Given the description of an element on the screen output the (x, y) to click on. 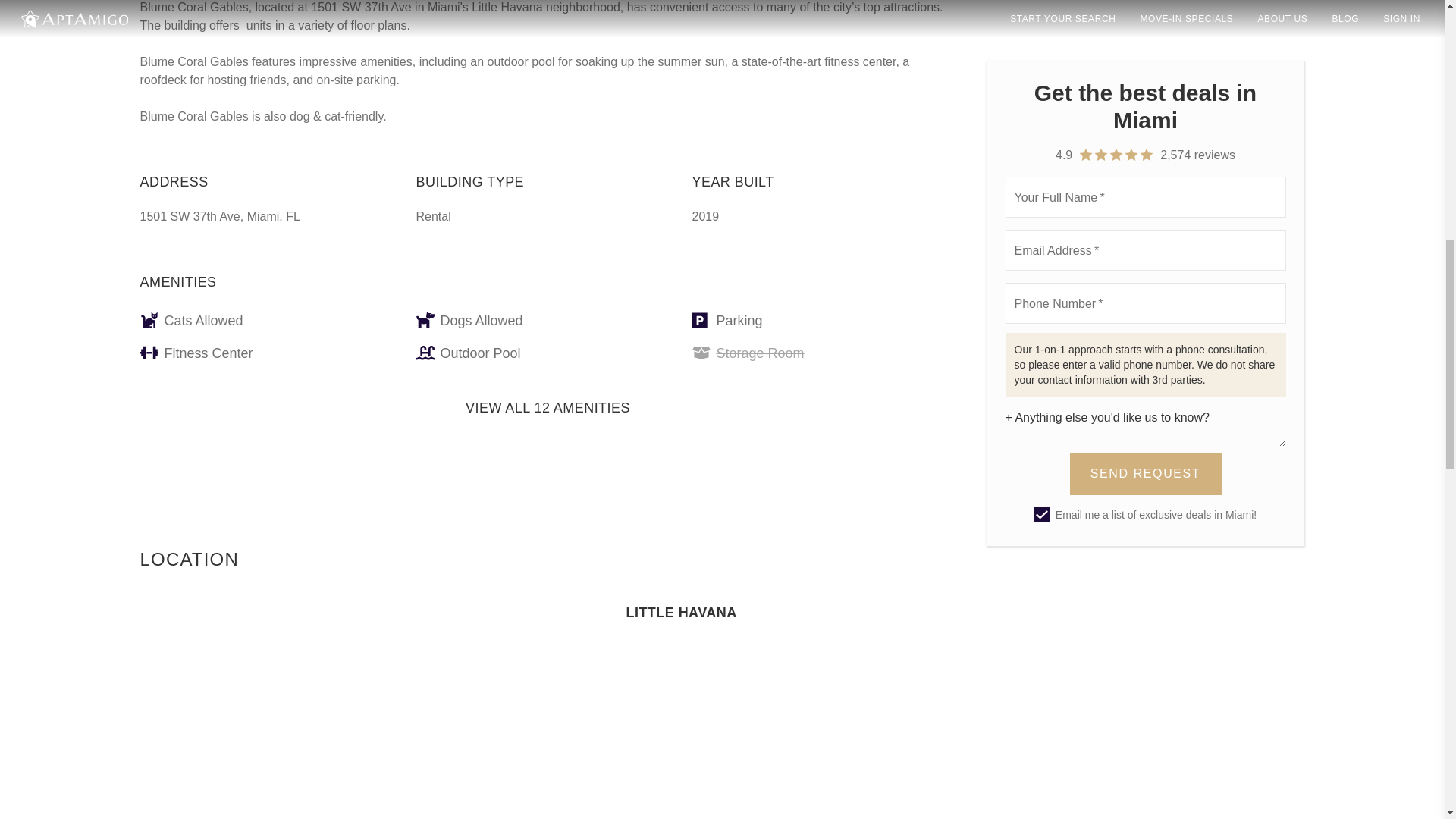
VIEW ALL 12 AMENITIES (547, 409)
